Given the description of an element on the screen output the (x, y) to click on. 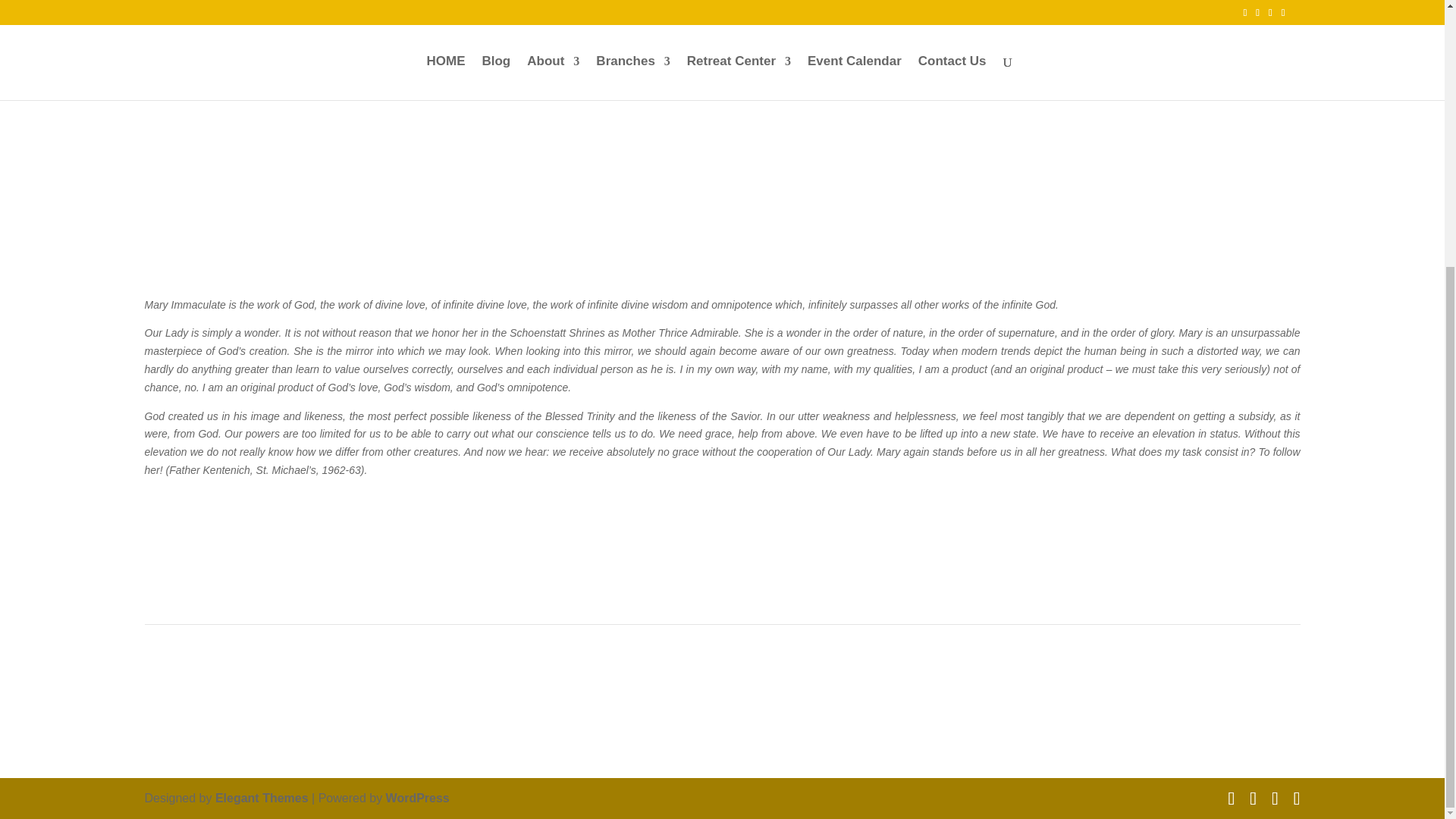
WordPress (417, 797)
Premium WordPress Themes (261, 797)
Elegant Themes (261, 797)
